Given the description of an element on the screen output the (x, y) to click on. 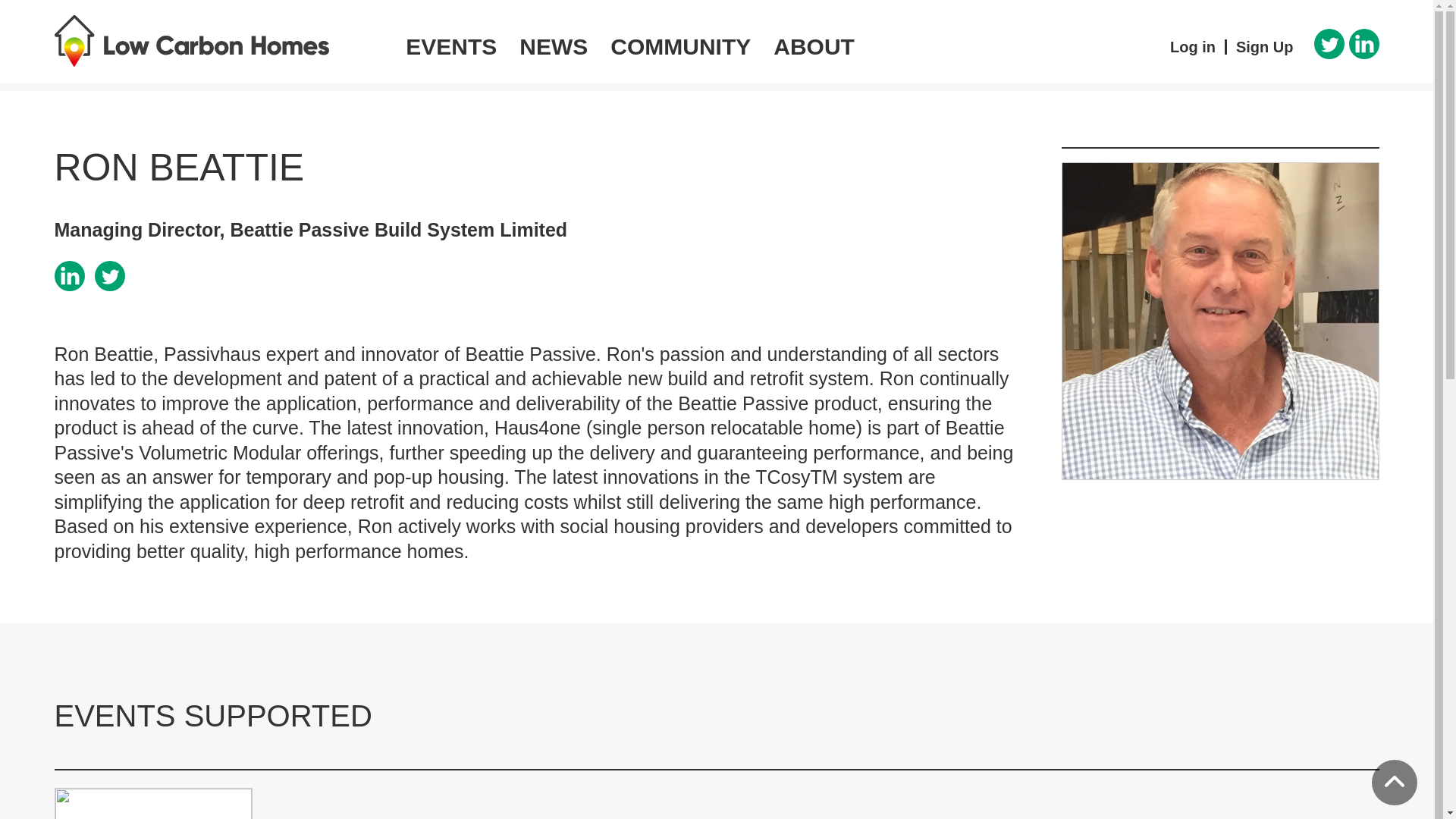
NEWS (553, 46)
Log in (1192, 46)
ABOUT (813, 46)
COMMUNITY (679, 46)
Home (230, 40)
EVENTS (451, 46)
Sign Up (1265, 46)
